Given the description of an element on the screen output the (x, y) to click on. 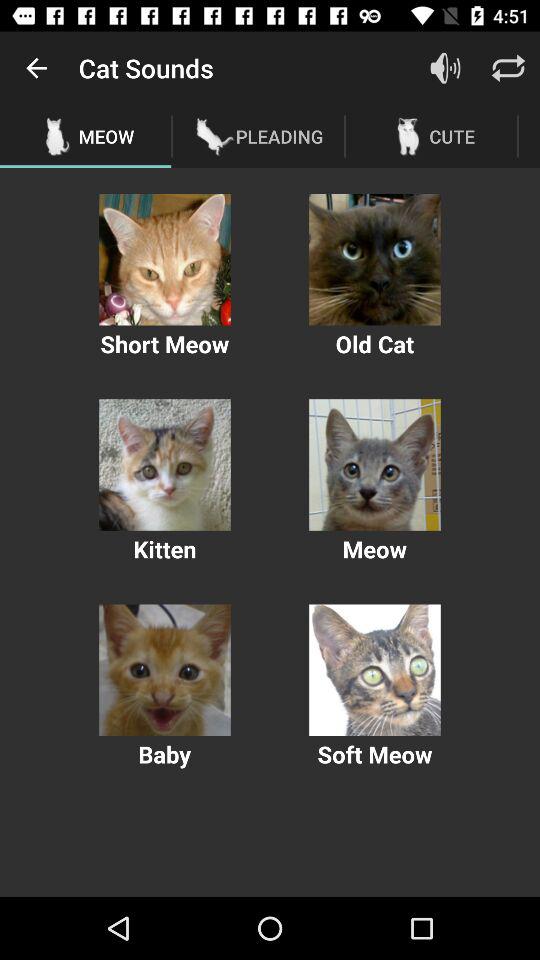
press item next to the pleading item (444, 67)
